Given the description of an element on the screen output the (x, y) to click on. 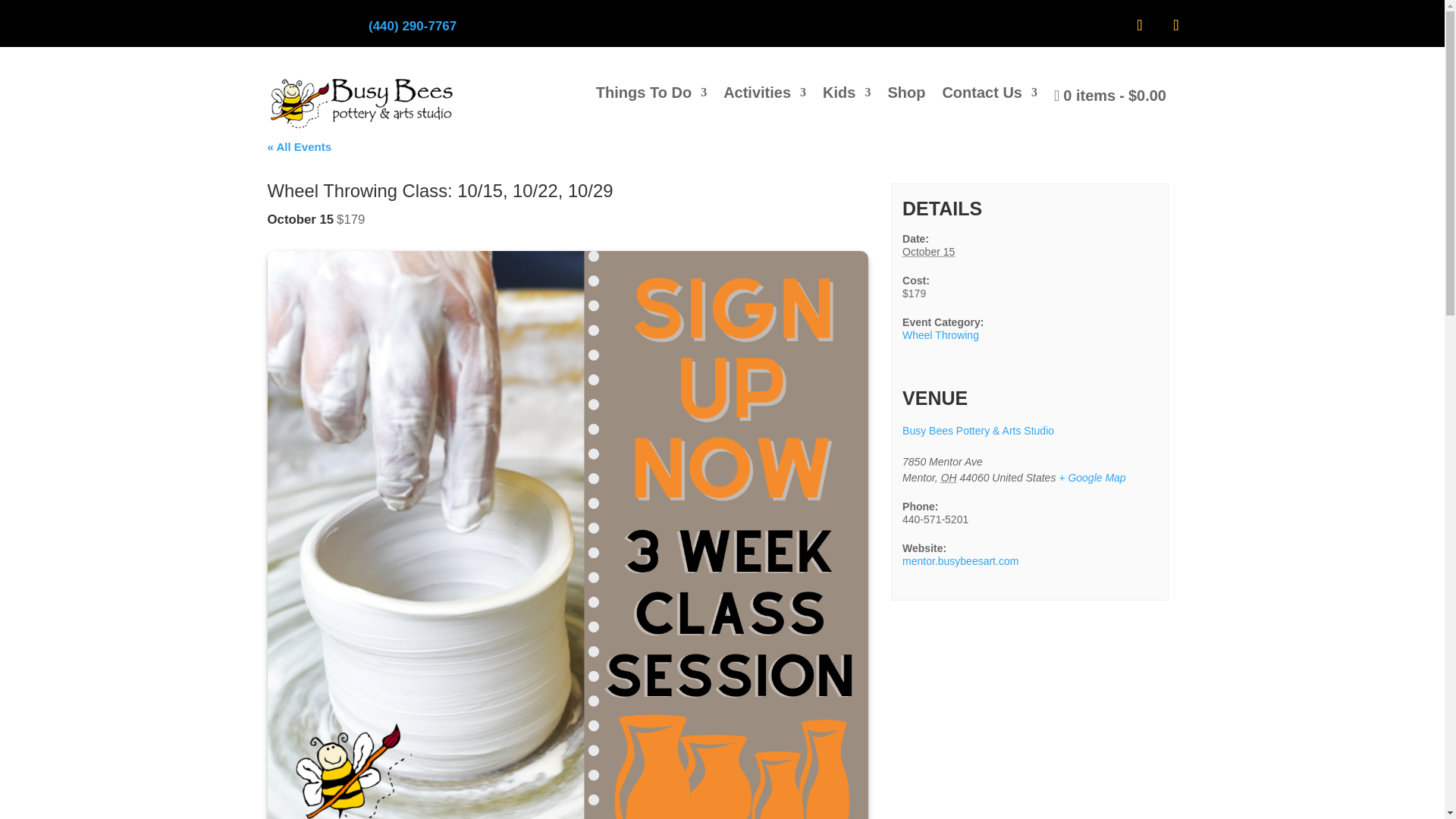
Start shopping (1110, 98)
Follow on Facebook (1139, 24)
Activities (764, 98)
Follow on Instagram (1175, 24)
Things To Do (650, 98)
Contact Us (989, 98)
BUSY BEES LOGO (361, 102)
Ohio (948, 477)
Click to view a Google Map (1091, 477)
Kids (846, 98)
